Given the description of an element on the screen output the (x, y) to click on. 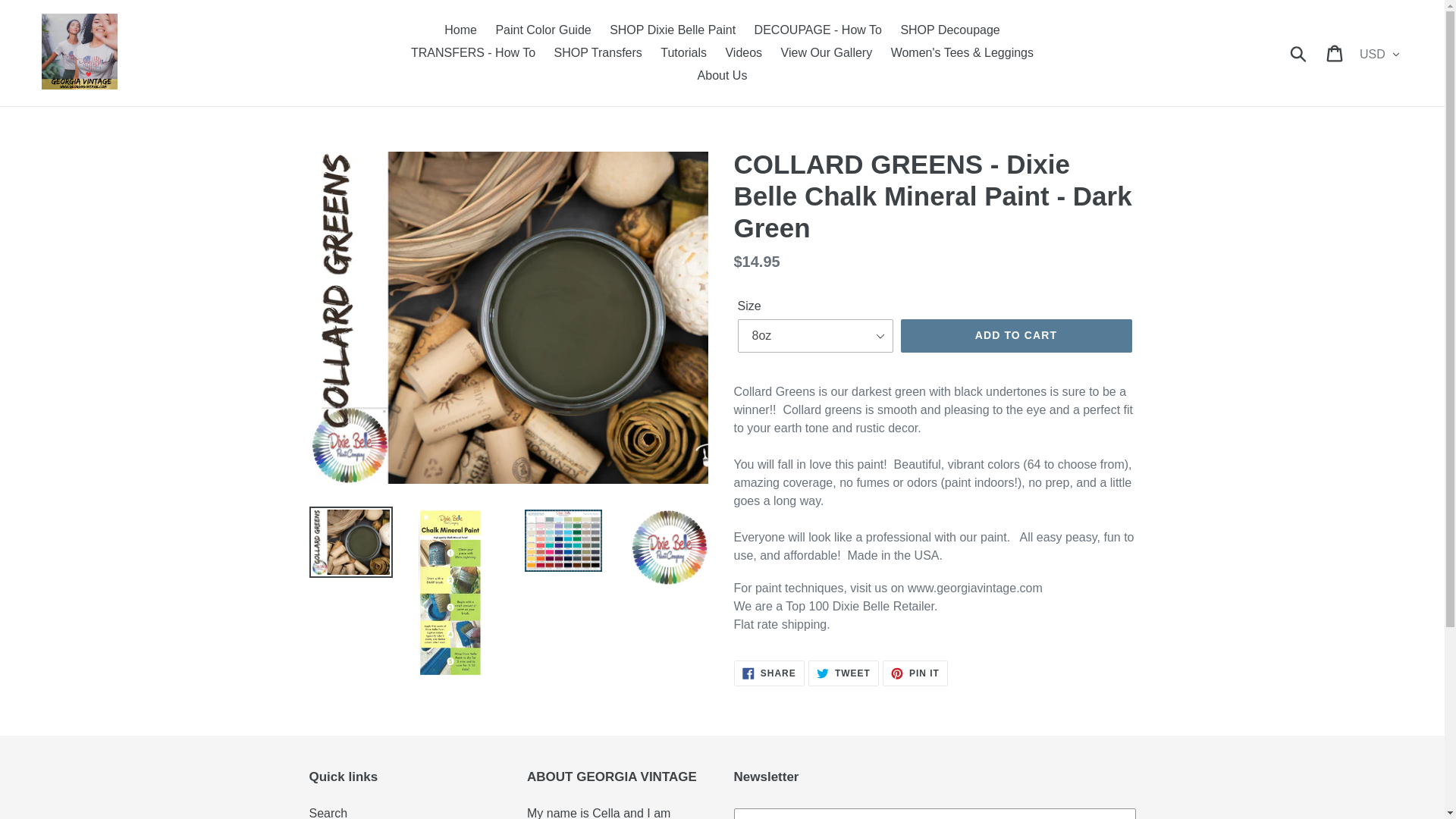
SHOP Transfers (598, 52)
Tutorials (769, 673)
Home (683, 52)
Cart (460, 29)
TRANSFERS - How To (1335, 52)
View Our Gallery (473, 52)
Paint Color Guide (826, 52)
SHOP Dixie Belle Paint (542, 29)
SHOP Decoupage (672, 29)
About Us (949, 29)
DECOUPAGE - How To (722, 75)
ADD TO CART (817, 29)
Videos (1016, 335)
Submit (743, 52)
